Given the description of an element on the screen output the (x, y) to click on. 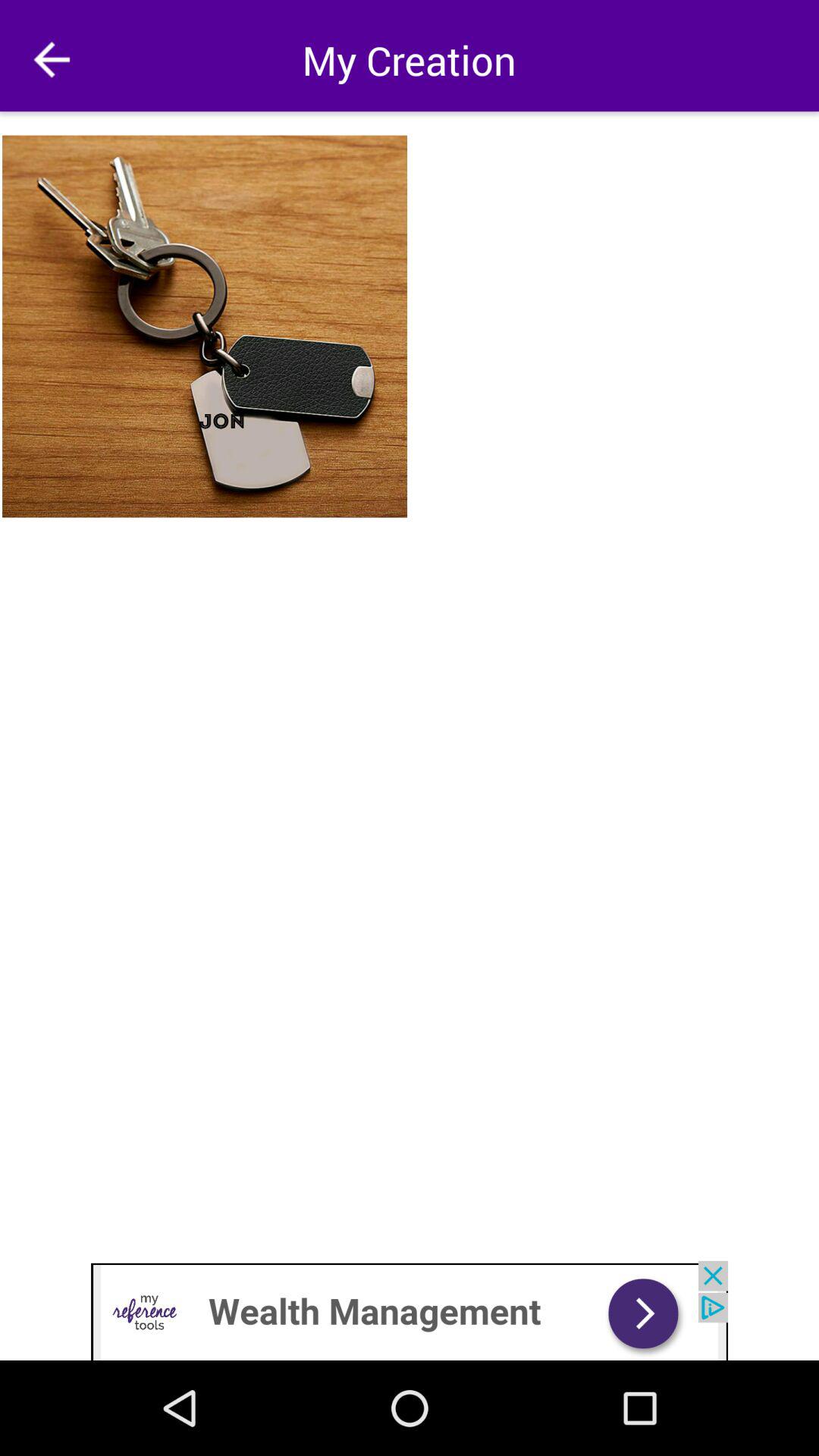
open photo (205, 326)
